Given the description of an element on the screen output the (x, y) to click on. 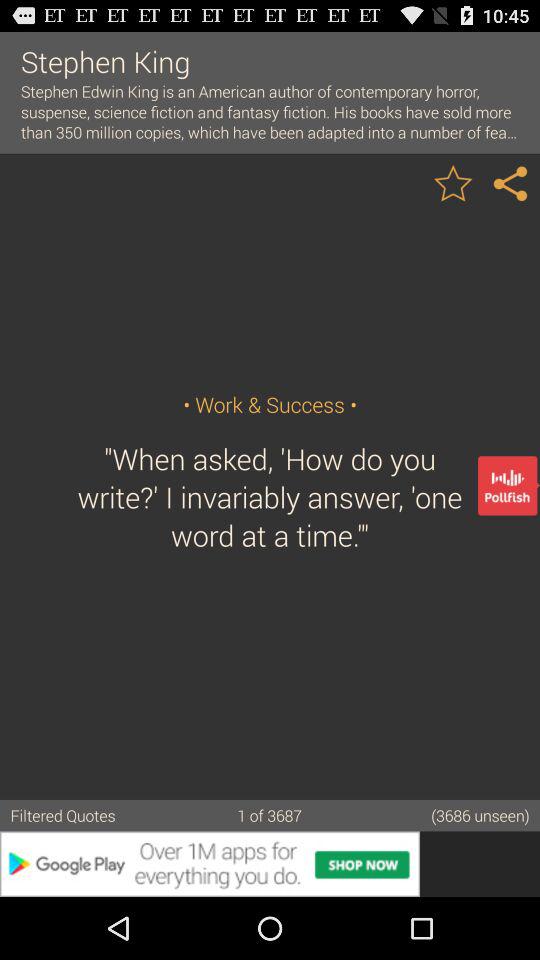
brilliant quotes best photo quotes top sayings (511, 182)
